Given the description of an element on the screen output the (x, y) to click on. 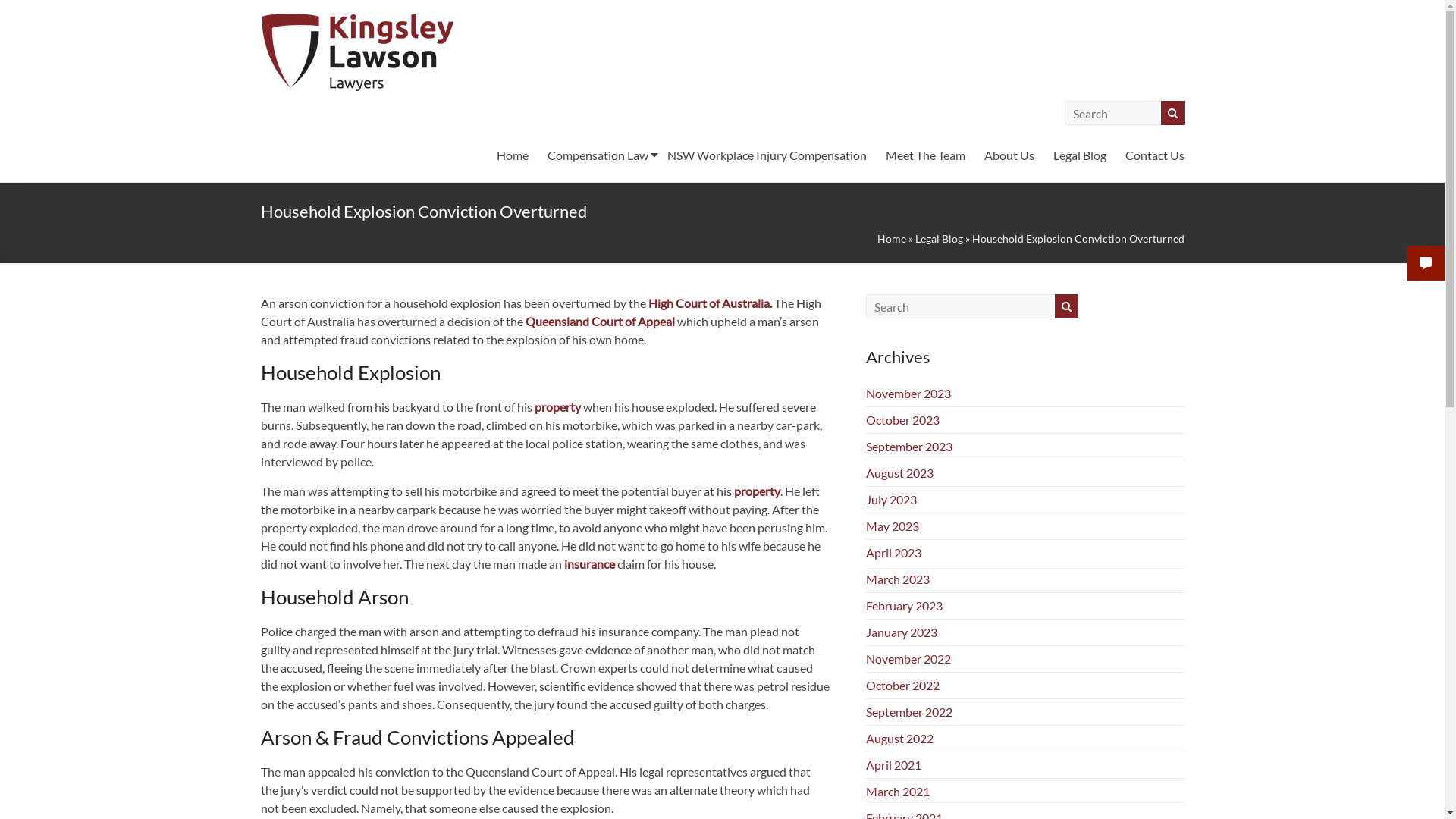
Home Element type: text (511, 155)
Compensation Law Element type: text (597, 155)
About Us Element type: text (1009, 155)
May 2023 Element type: text (892, 525)
March 2021 Element type: text (897, 791)
Legal Blog Element type: text (938, 238)
July 2023 Element type: text (891, 499)
NSW Workplace Injury Compensation Element type: text (766, 155)
November 2022 Element type: text (908, 658)
Kingsley Lawson Lawyers Element type: text (309, 60)
March 2023 Element type: text (897, 578)
Queensland Court of Appeal Element type: text (599, 320)
January 2023 Element type: text (901, 631)
Legal Blog Element type: text (1078, 155)
Meet The Team Element type: text (925, 155)
August 2023 Element type: text (899, 472)
August 2022 Element type: text (899, 738)
October 2022 Element type: text (902, 684)
November 2023 Element type: text (908, 392)
insurance Element type: text (589, 563)
High Court of Australia. Element type: text (709, 302)
April 2023 Element type: text (893, 552)
April 2021 Element type: text (893, 764)
September 2022 Element type: text (909, 711)
property Element type: text (757, 490)
October 2023 Element type: text (902, 419)
February 2023 Element type: text (904, 605)
Home Element type: text (890, 238)
Contact Us Element type: text (1154, 155)
property Element type: text (556, 406)
September 2023 Element type: text (909, 446)
